Given the description of an element on the screen output the (x, y) to click on. 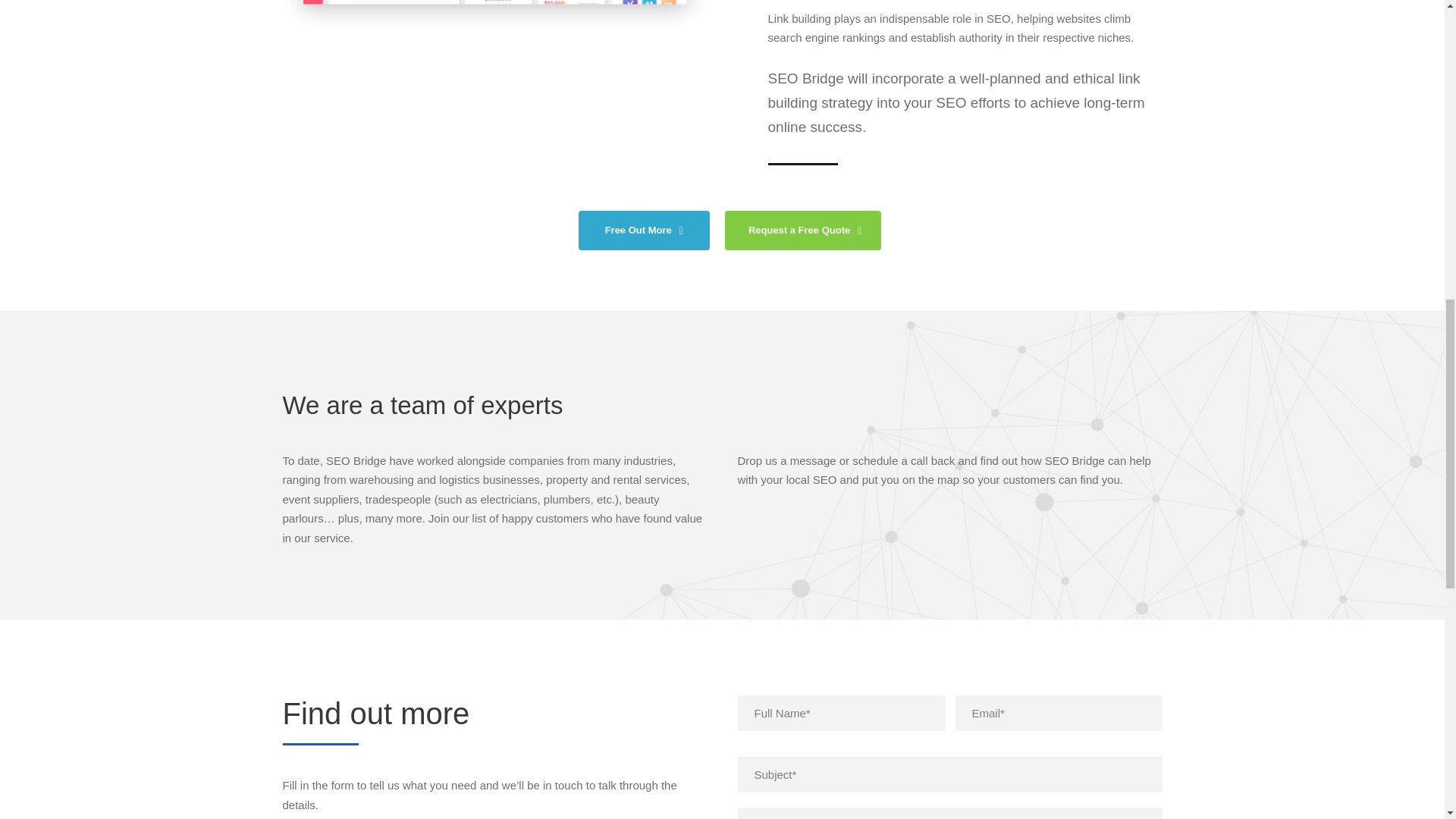
Free Out More (644, 230)
Request a Free Quote (803, 230)
